Given the description of an element on the screen output the (x, y) to click on. 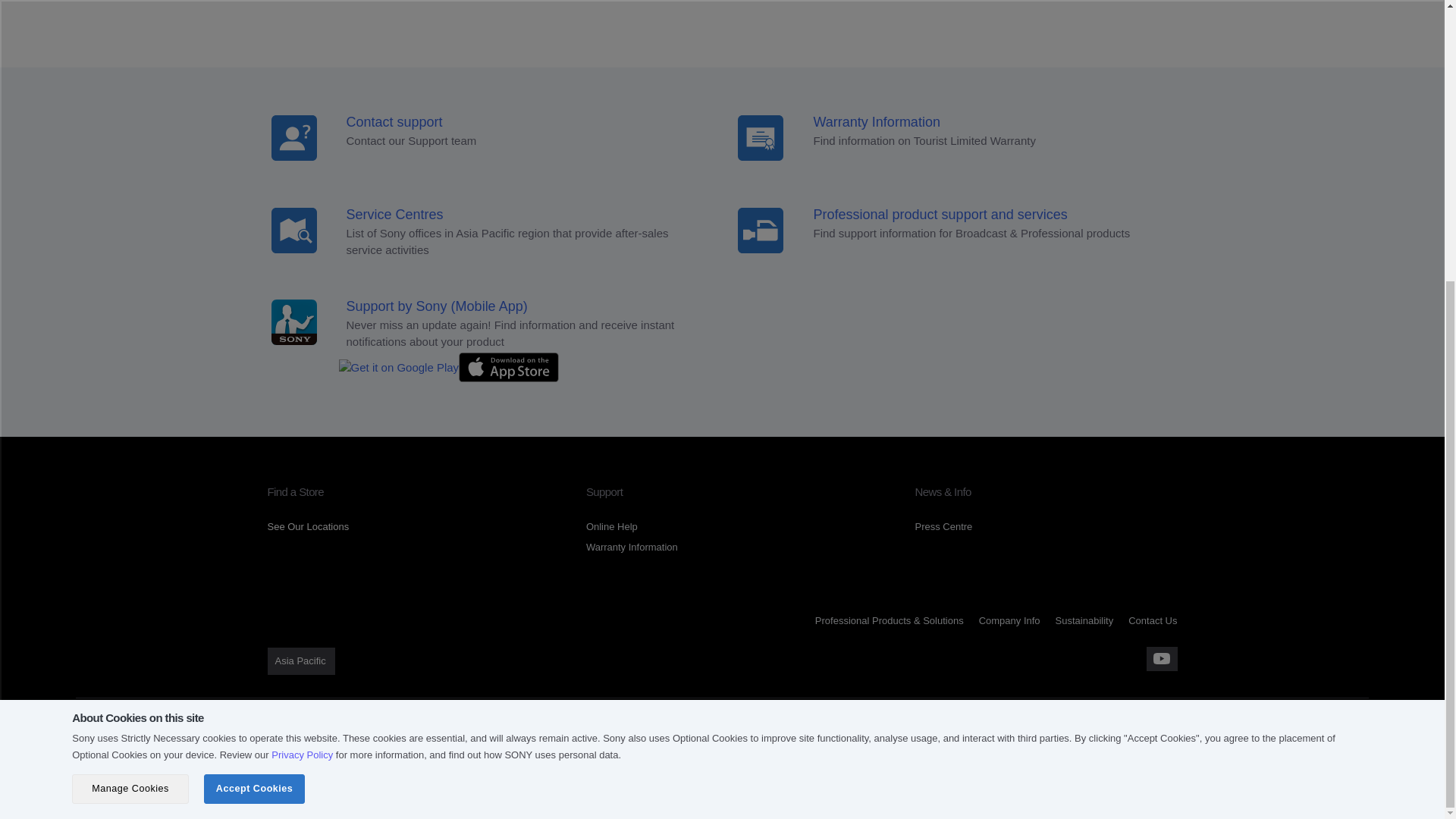
nntnnnttnn (760, 230)
